Given the description of an element on the screen output the (x, y) to click on. 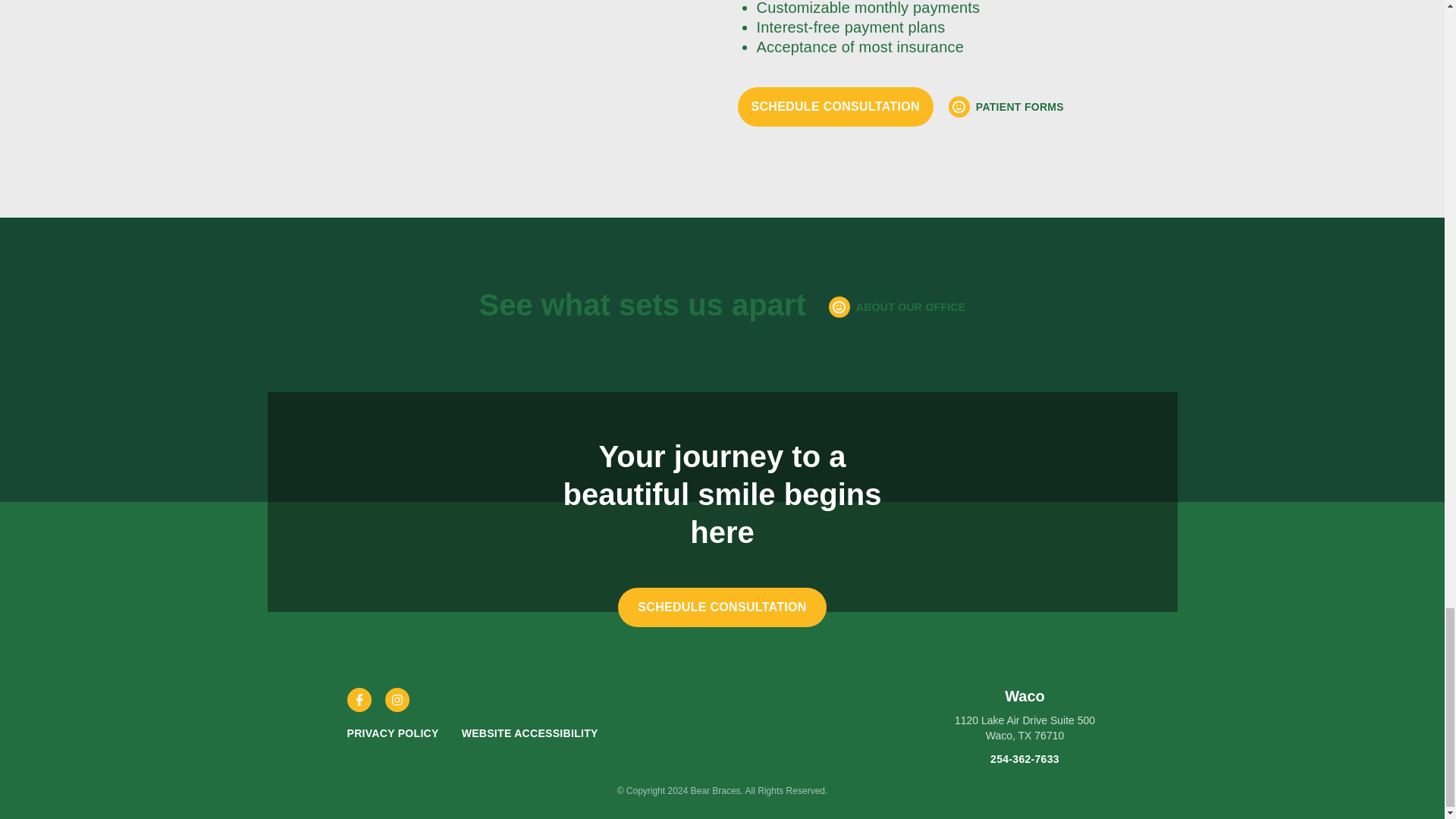
ABOUT OUR OFFICE (897, 306)
PATIENT FORMS (1006, 106)
SCHEDULE CONSULTATION (834, 106)
SCHEDULE CONSULTATION (722, 607)
